Given the description of an element on the screen output the (x, y) to click on. 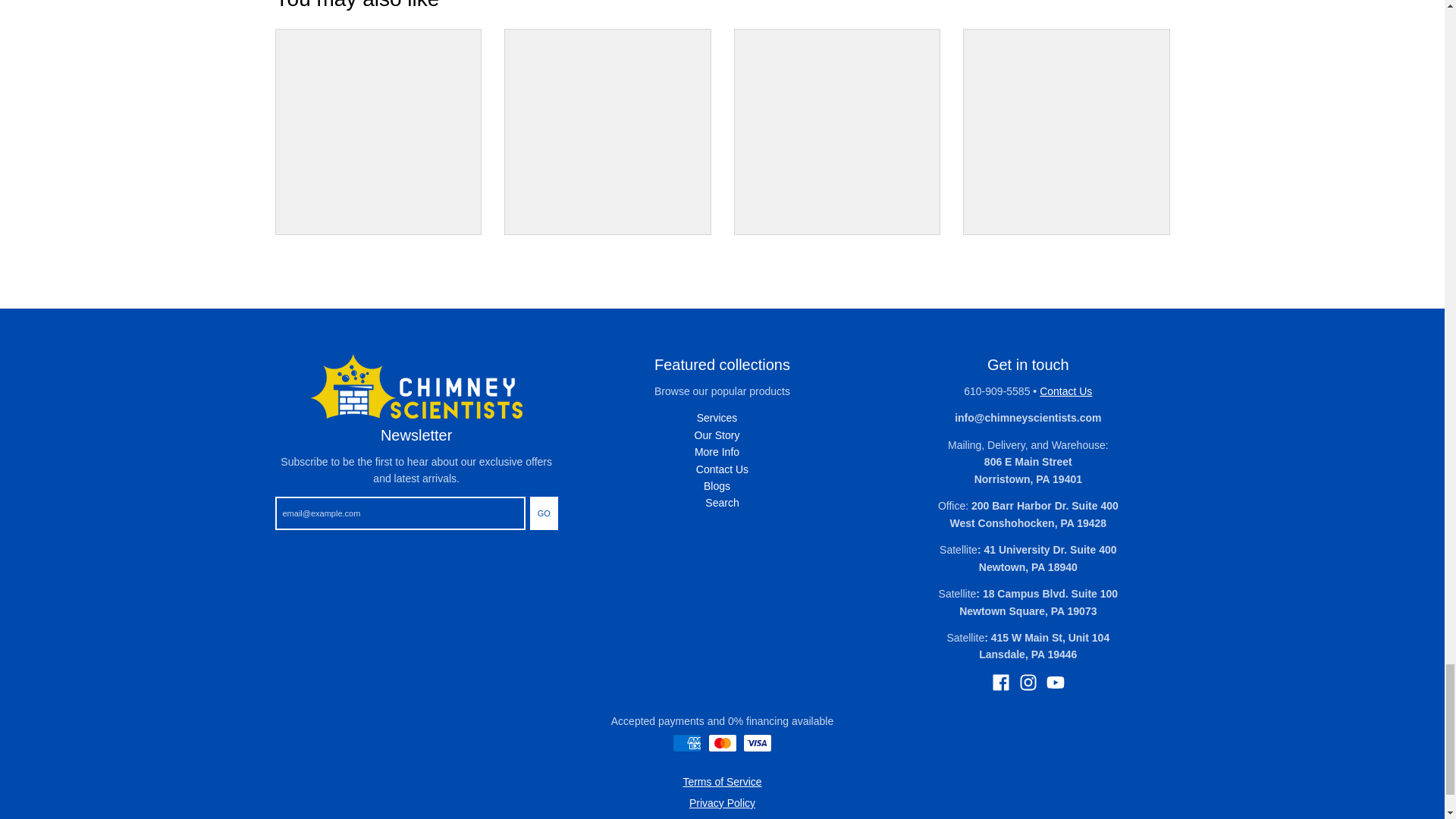
Facebook - Chimney Scientist (1000, 682)
YouTube - Chimney Scientist (1055, 682)
Instagram - Chimney Scientist (1027, 682)
